Given the description of an element on the screen output the (x, y) to click on. 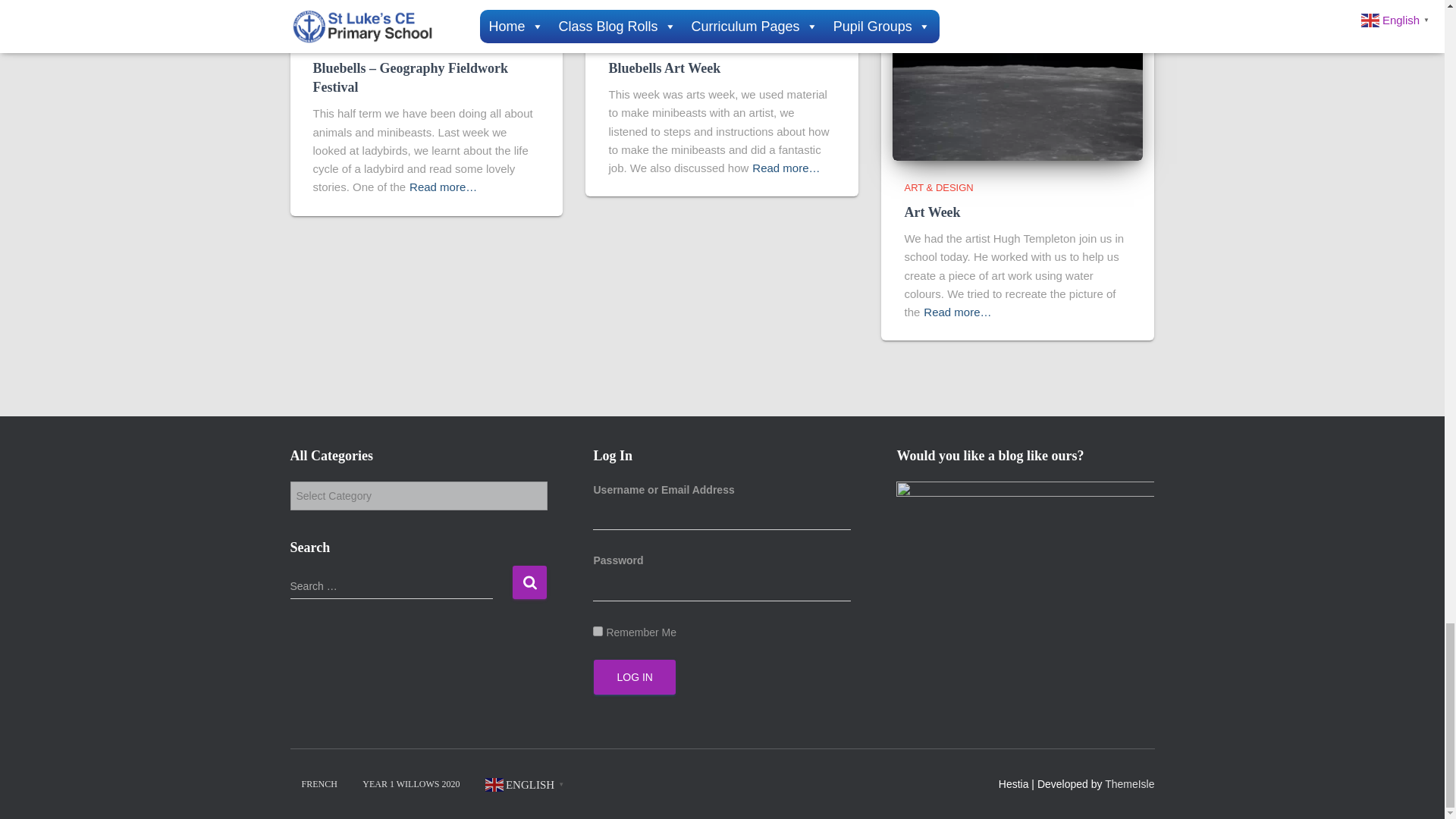
Search (529, 581)
Art Week (1017, 76)
Bluebells Art Week (664, 68)
Search (529, 581)
forever (597, 631)
Art Week (931, 212)
